Given the description of an element on the screen output the (x, y) to click on. 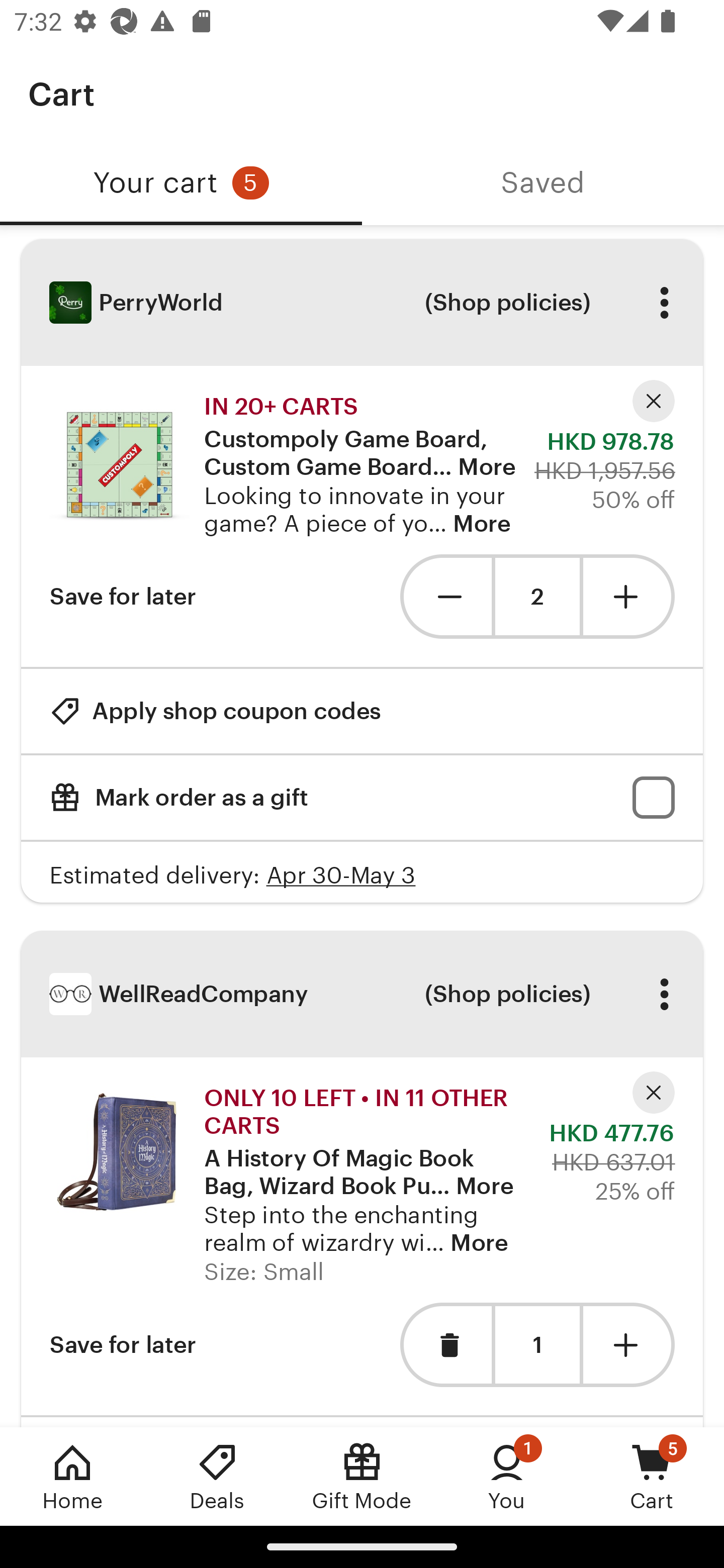
Saved, tab 2 of 2 Saved (543, 183)
PerryWorld (Shop policies) More options (361, 302)
(Shop policies) (507, 302)
More options (663, 302)
Save for later (122, 596)
Remove one unit from cart (445, 596)
Add one unit to cart (628, 596)
2 (537, 597)
Apply shop coupon codes (215, 710)
Mark order as a gift (361, 797)
WellReadCompany (Shop policies) More options (361, 993)
(Shop policies) (507, 993)
More options (663, 993)
Save for later (122, 1345)
Remove item from cart (445, 1345)
Add one unit to cart (628, 1345)
1 (537, 1345)
Home (72, 1475)
Deals (216, 1475)
Gift Mode (361, 1475)
You, 1 new notification You (506, 1475)
